Given the description of an element on the screen output the (x, y) to click on. 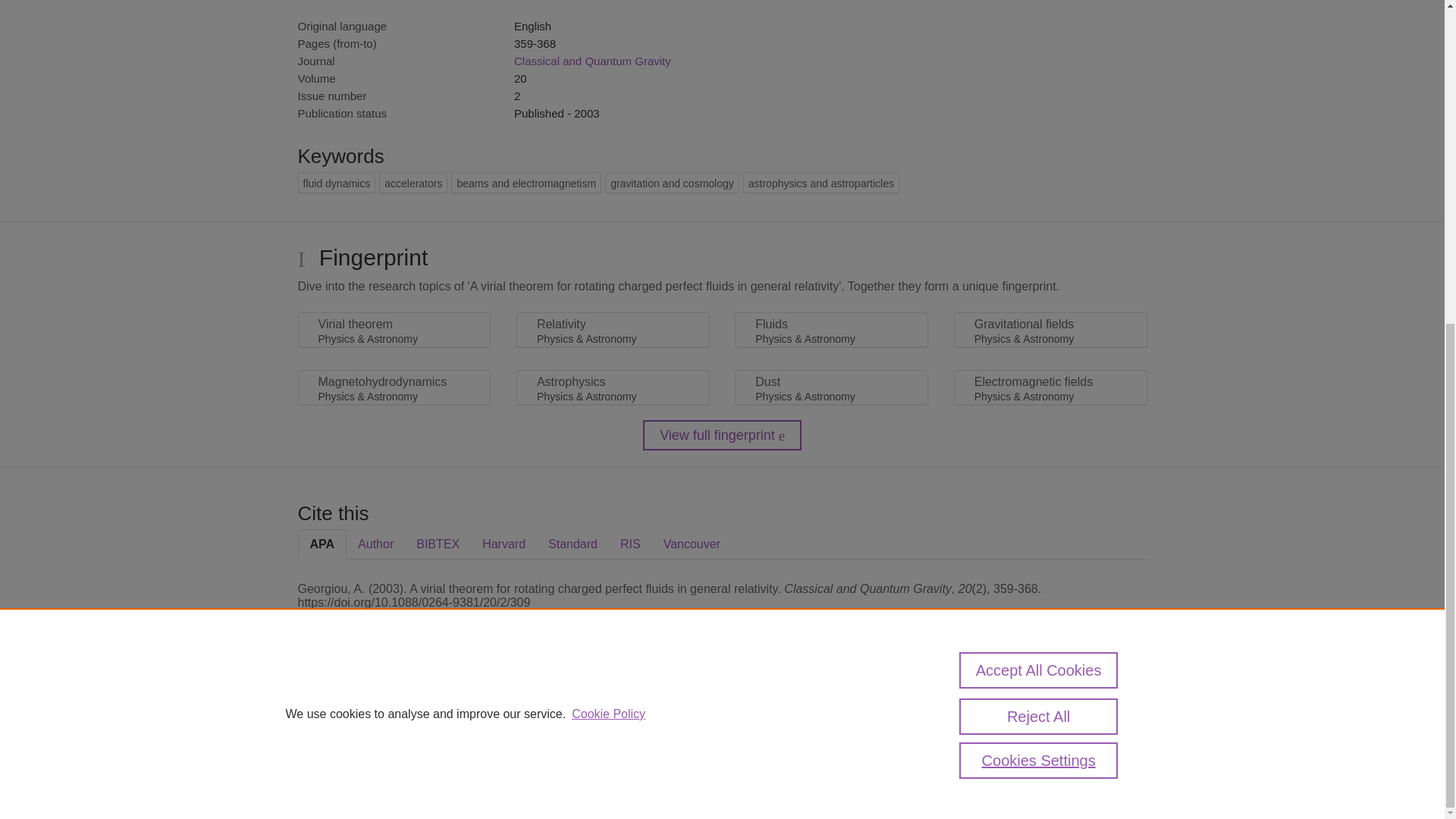
Classical and Quantum Gravity (592, 60)
Accept All Cookies (1038, 141)
About web accessibility (1020, 713)
Report vulnerability (1020, 745)
View full fingerprint (722, 435)
Cookie Policy (608, 185)
Reject All (1038, 187)
Scopus (394, 708)
Cookies Settings (1038, 231)
Elsevier B.V. (506, 728)
